Given the description of an element on the screen output the (x, y) to click on. 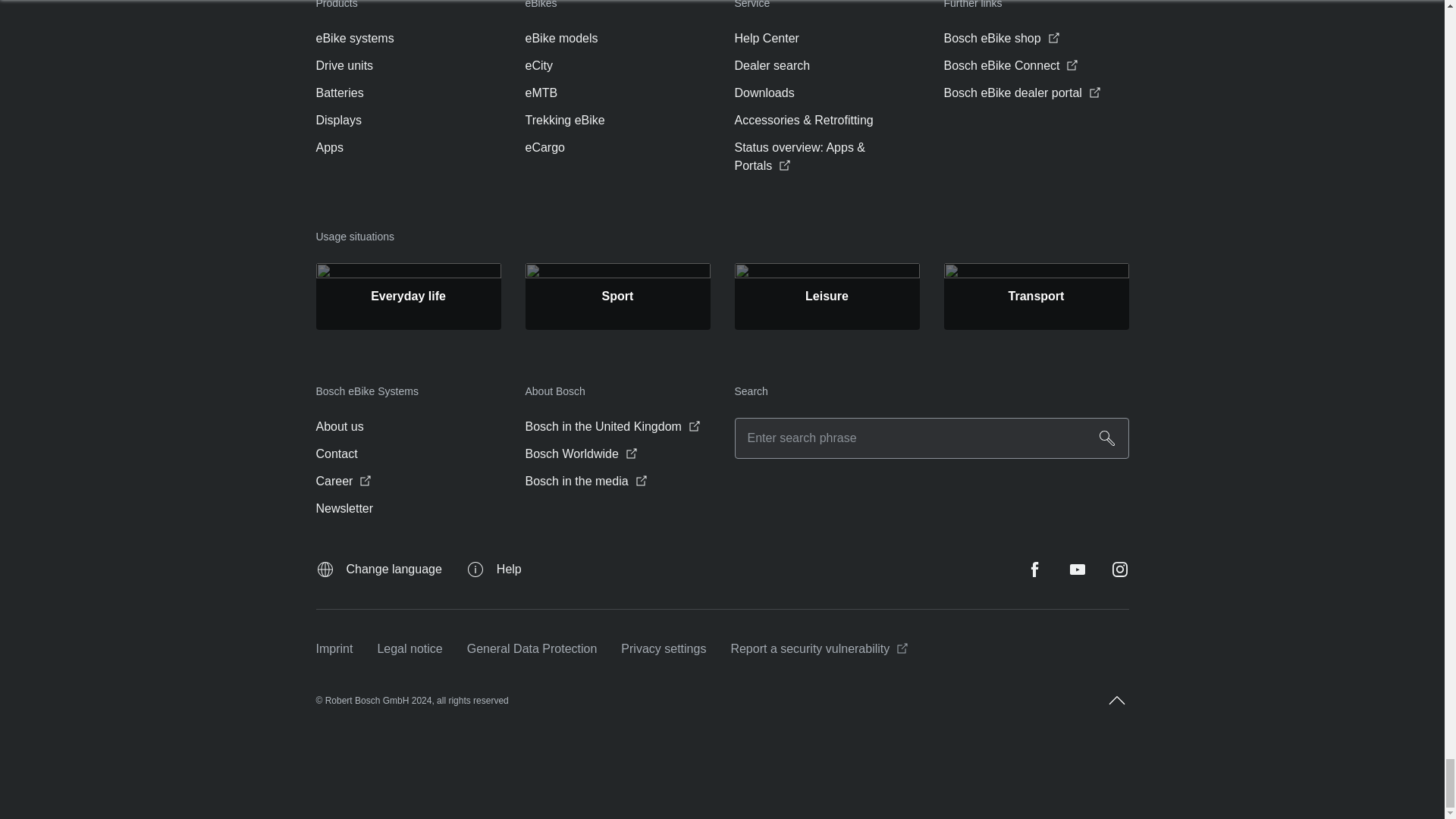
Bosch eBike on Facebook (1034, 569)
Instagram (1118, 569)
Search (1107, 437)
Bosch eBike on YouTube (1076, 569)
